Given the description of an element on the screen output the (x, y) to click on. 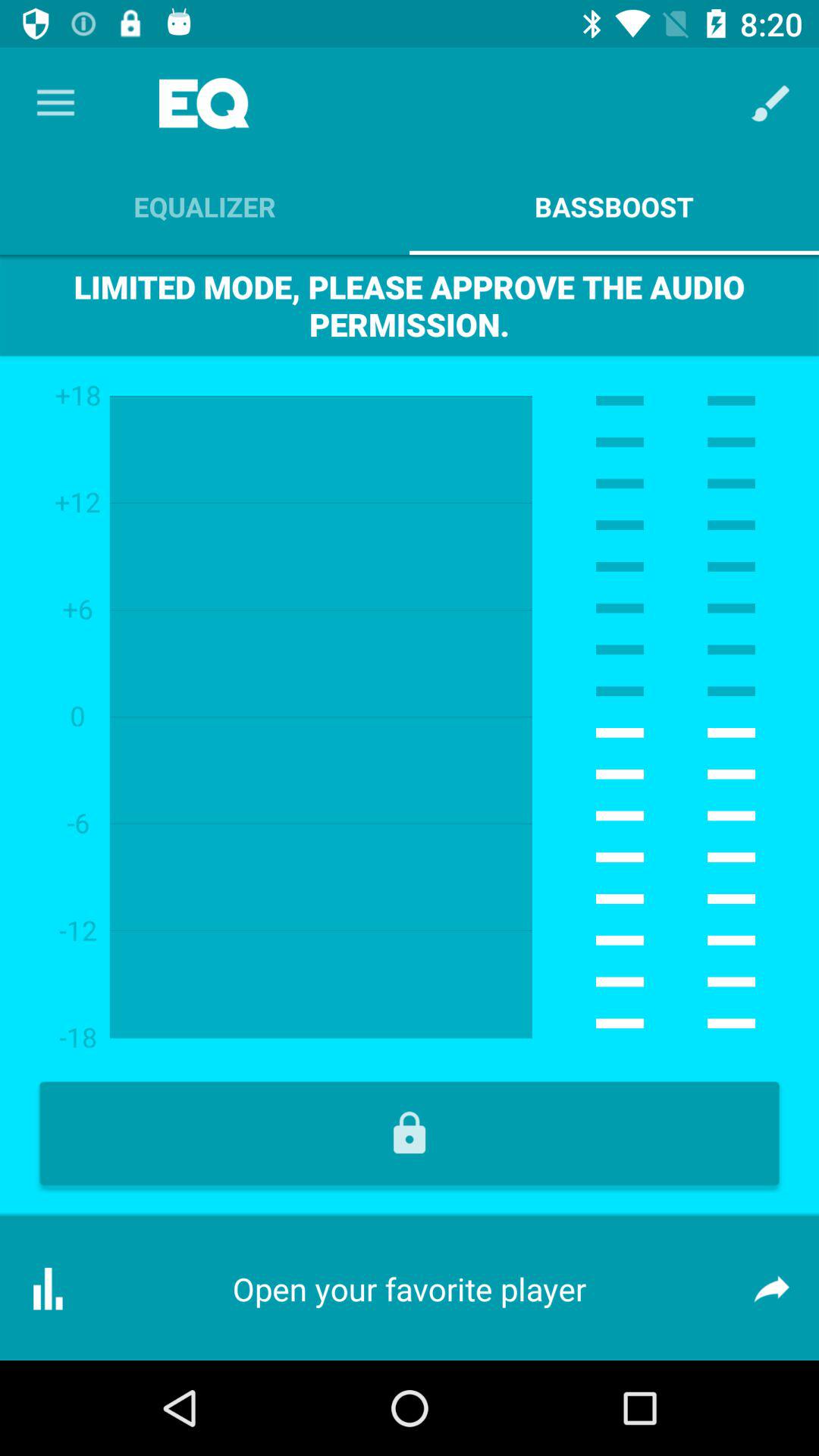
turn on the app above the equalizer app (55, 103)
